Given the description of an element on the screen output the (x, y) to click on. 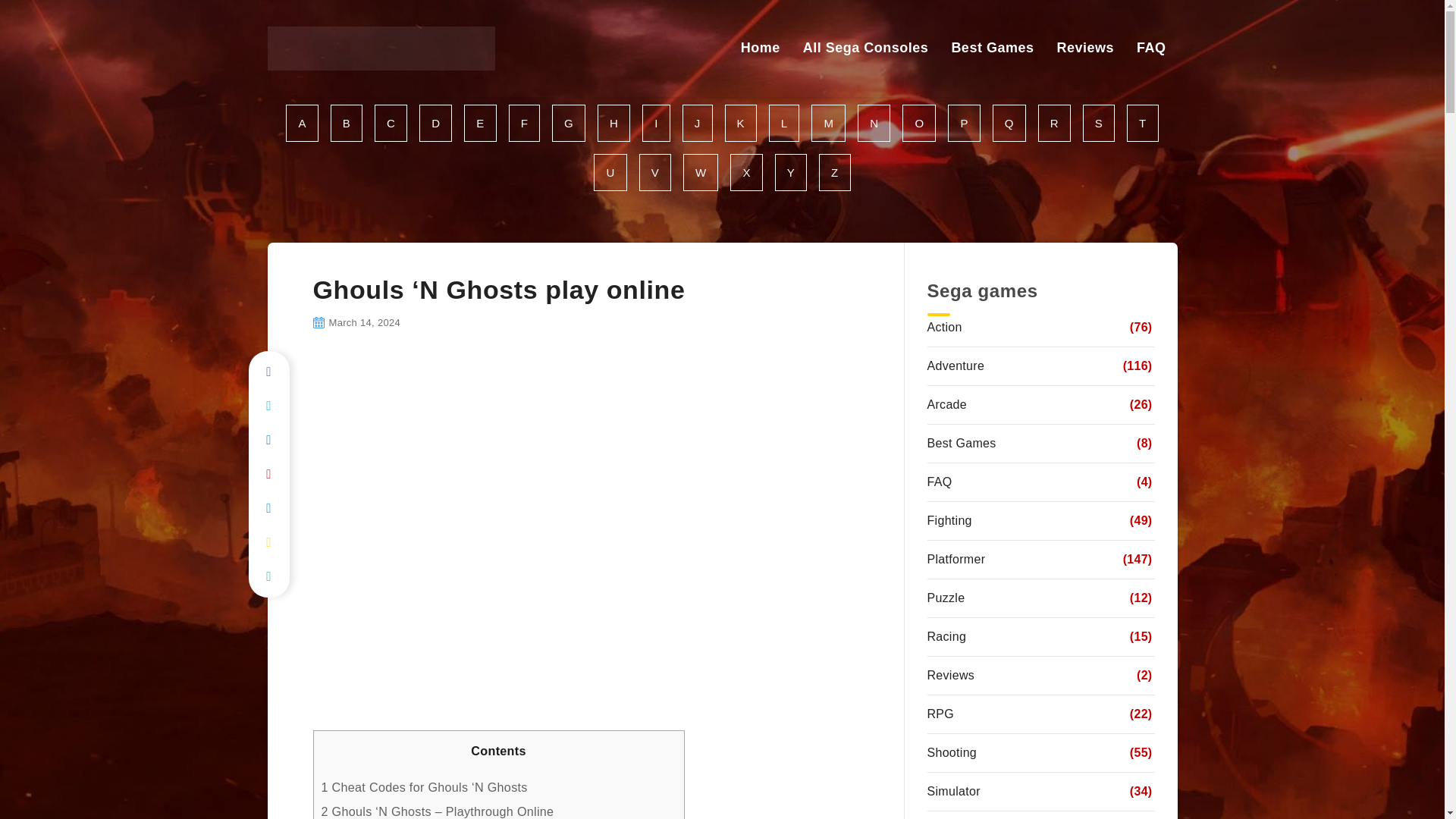
M of sega (827, 122)
G of sega (568, 122)
FAQ (1151, 47)
O of sega (919, 122)
M (827, 122)
O (919, 122)
Q (1009, 122)
Q of sega (1009, 122)
Home (760, 47)
All Sega Consoles (865, 47)
Best Games (991, 47)
G (568, 122)
Reviews (1085, 47)
W (699, 171)
